Given the description of an element on the screen output the (x, y) to click on. 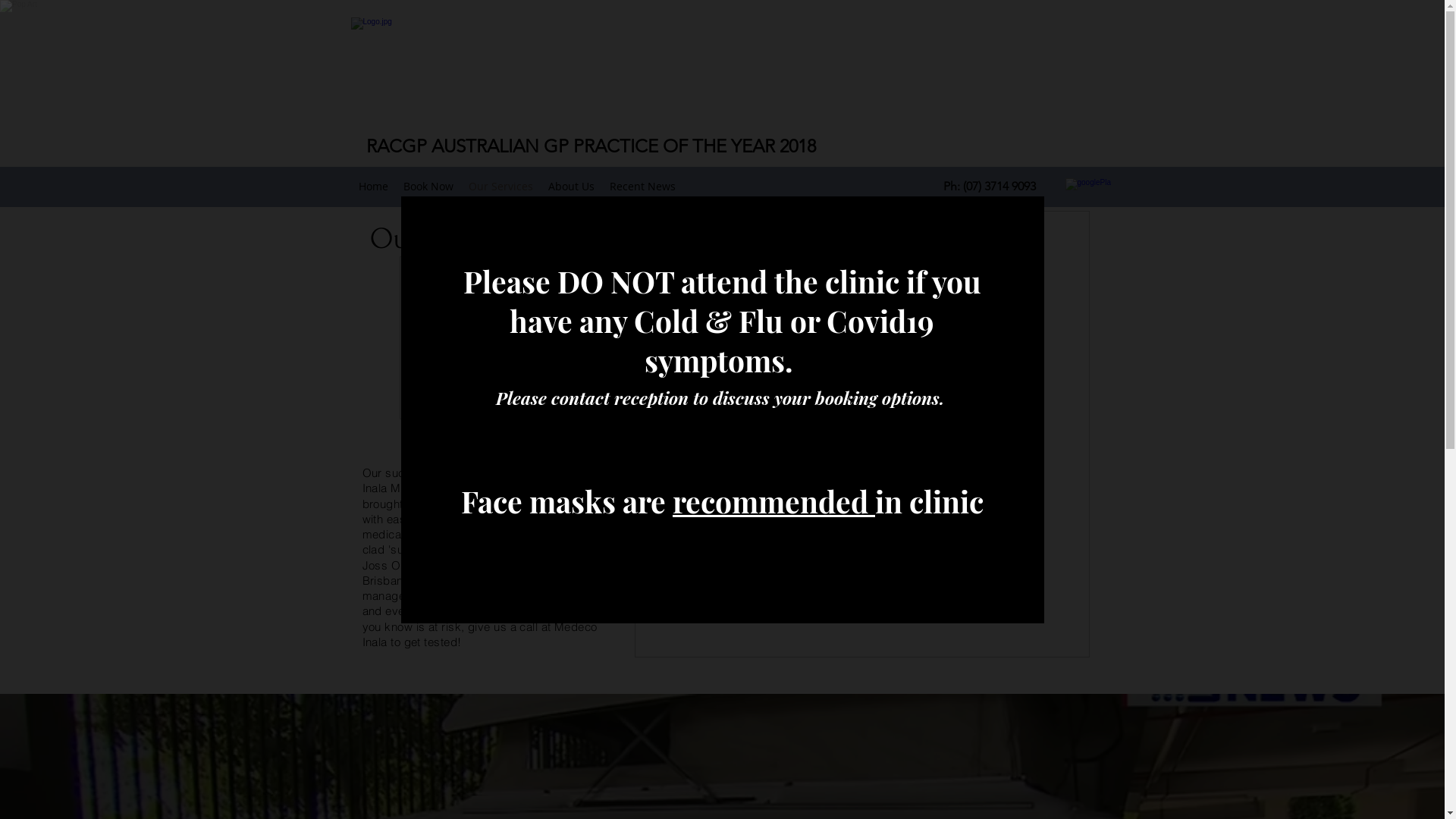
Recent News Element type: text (642, 185)
Back to site Element type: hover (1015, 223)
Home Element type: text (372, 185)
Our Services Element type: text (500, 185)
About Us Element type: text (570, 185)
Book Now Element type: text (428, 185)
